Given the description of an element on the screen output the (x, y) to click on. 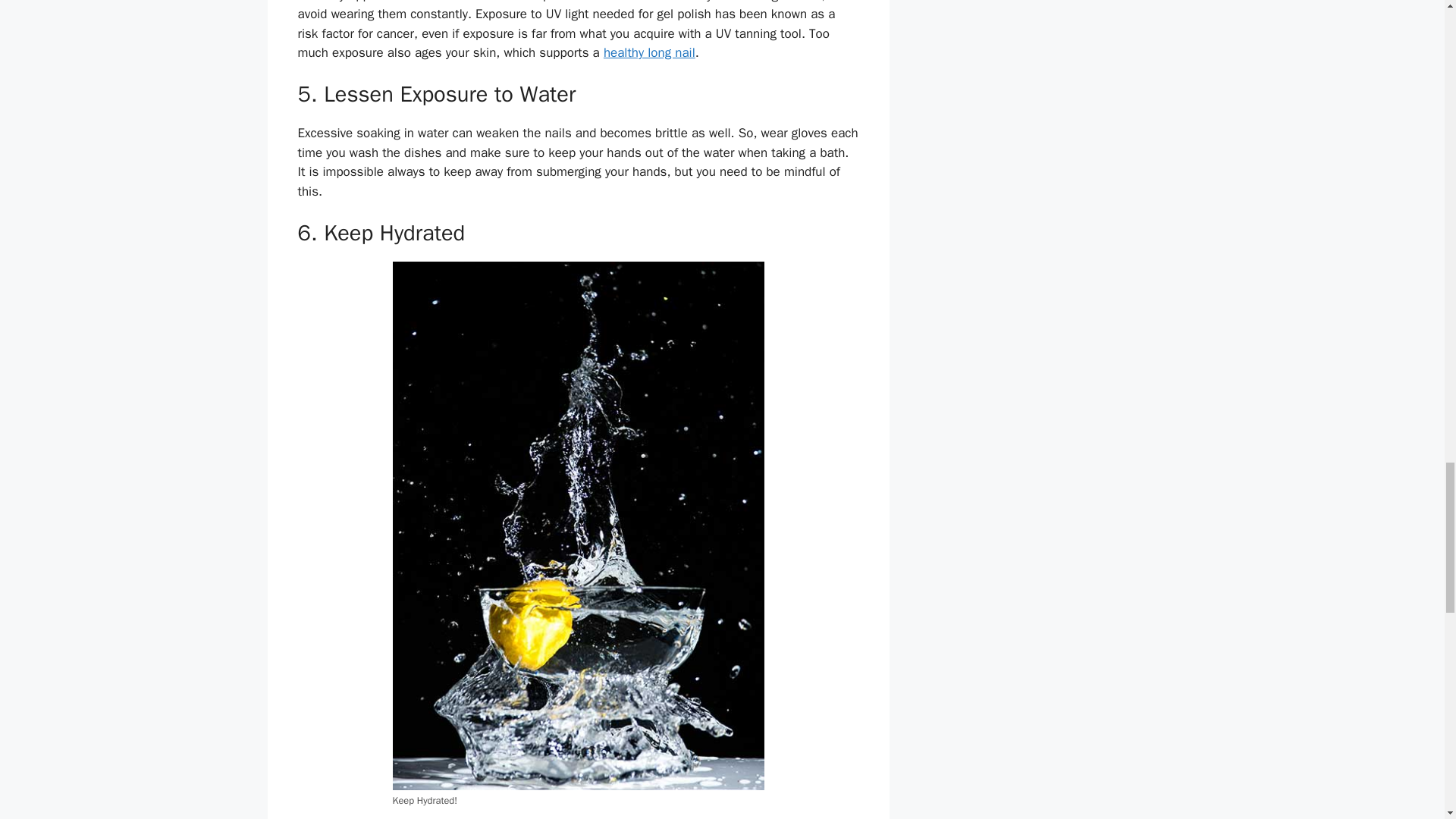
healthy long nail (649, 52)
